Given the description of an element on the screen output the (x, y) to click on. 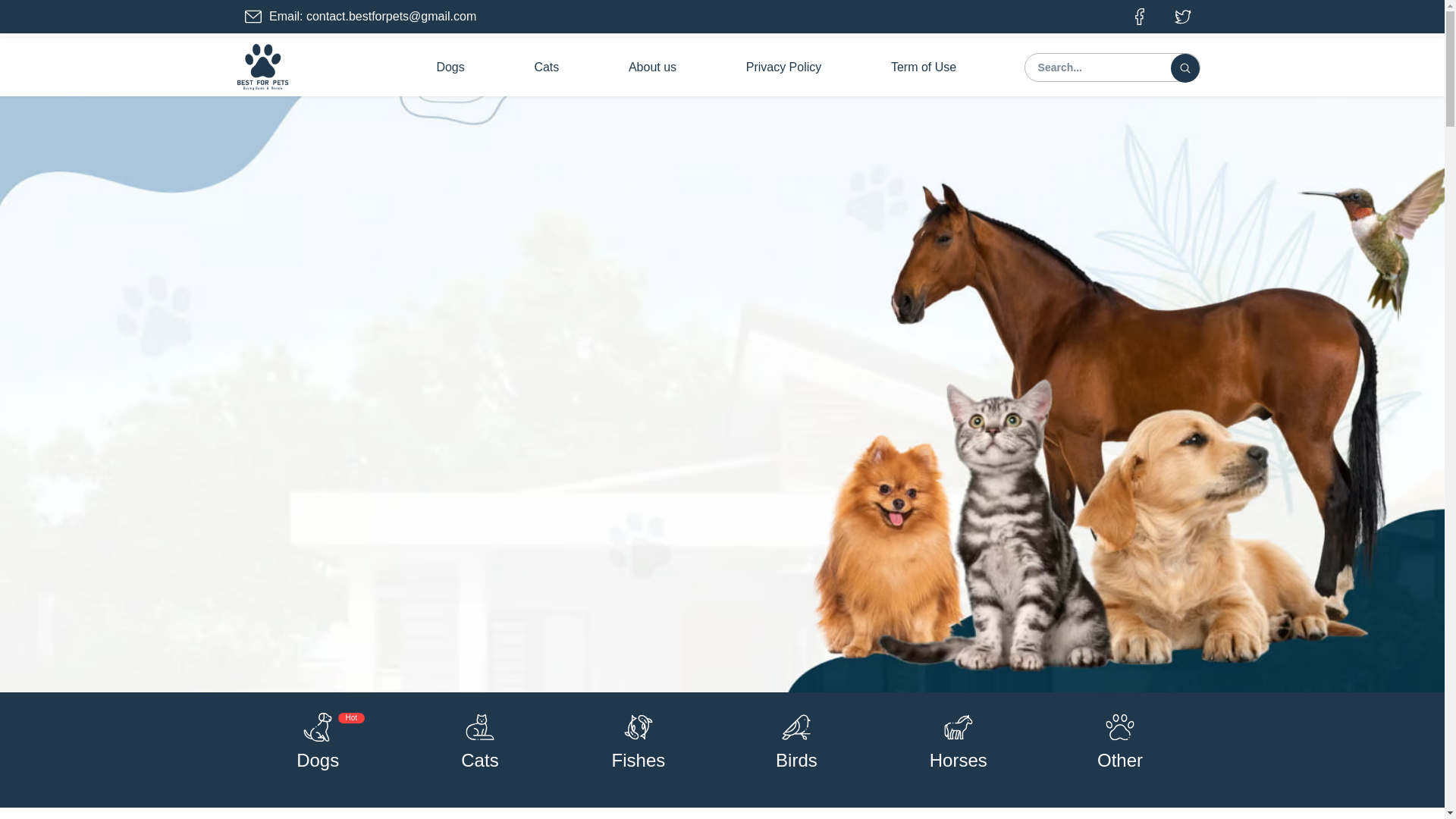
Dogs (450, 67)
Cats (479, 760)
Fishes (638, 760)
Privacy Policy (783, 67)
Cats (546, 67)
Dogs (318, 760)
Horses (958, 760)
About us (652, 67)
Term of Use (923, 67)
Birds (796, 760)
